Given the description of an element on the screen output the (x, y) to click on. 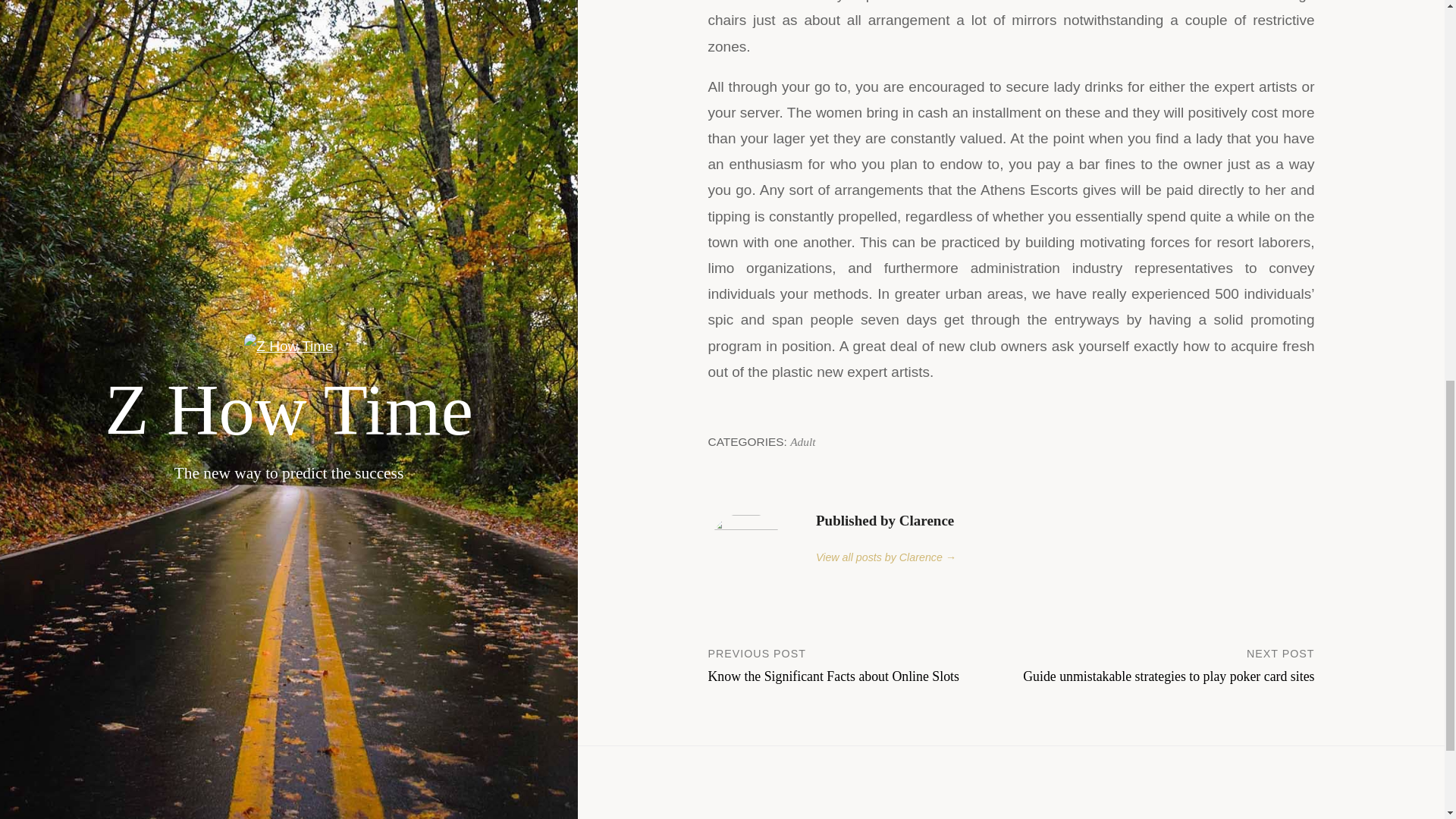
Adult (802, 440)
